Given the description of an element on the screen output the (x, y) to click on. 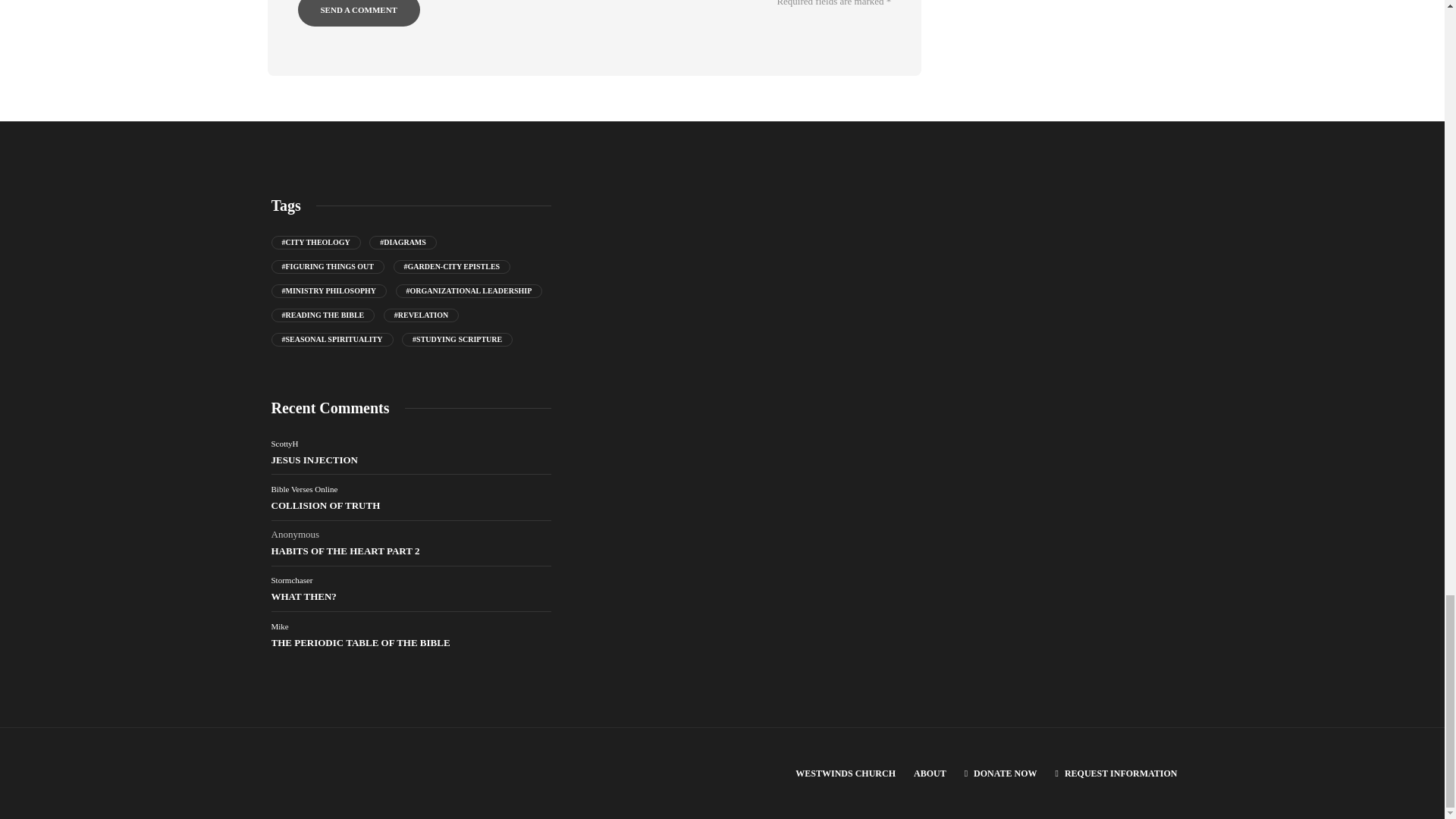
Send a comment (358, 13)
